Given the description of an element on the screen output the (x, y) to click on. 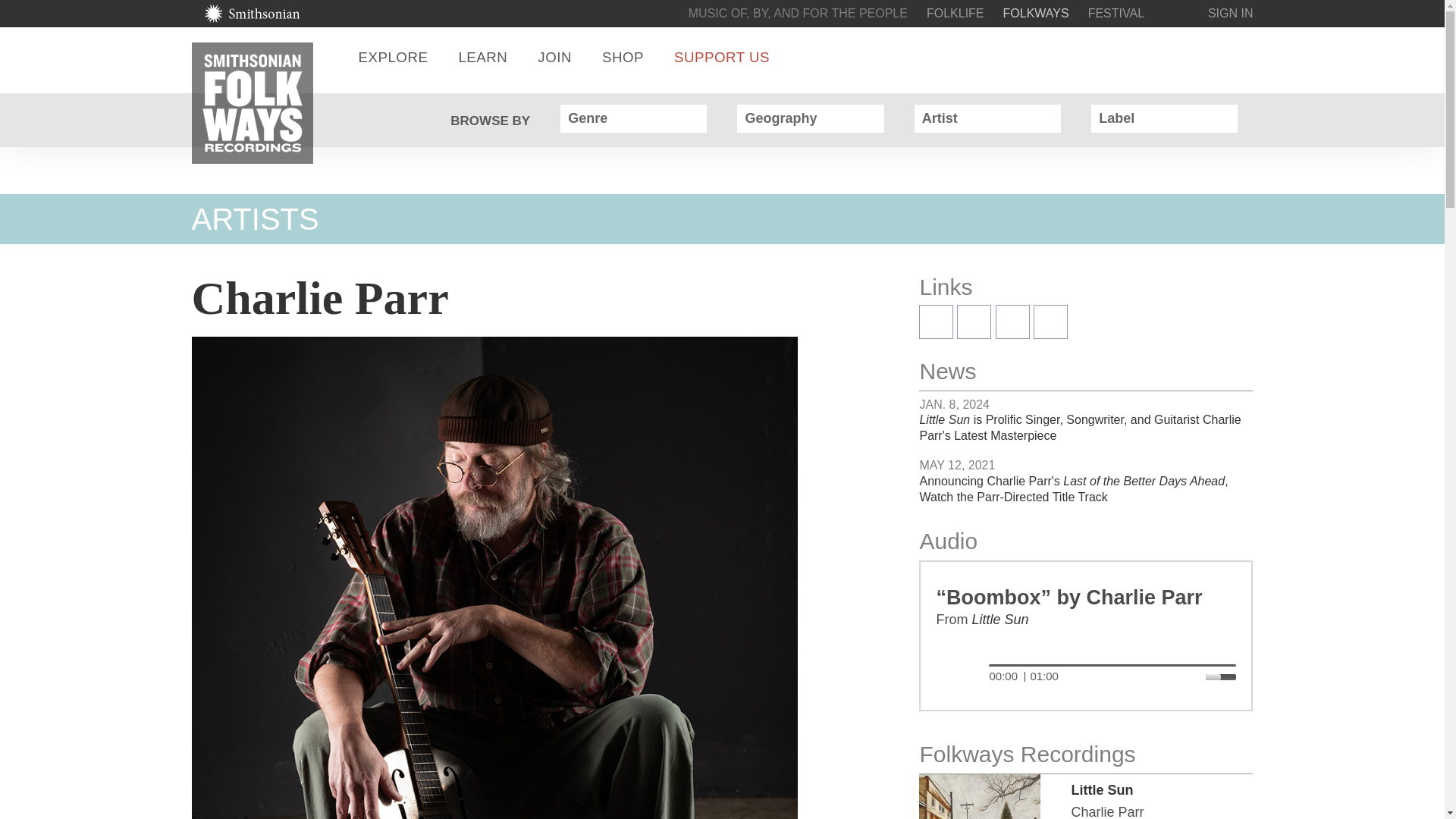
SUPPORT US (722, 57)
Browse by Geography (867, 117)
FOLKLIFE (955, 12)
JOIN (554, 57)
share (1198, 57)
SIGN IN (1230, 12)
FESTIVAL (1115, 12)
Browse by Genre (689, 117)
search (1152, 56)
search (1152, 57)
EXPLORE (393, 57)
FOLKWAYS (1035, 12)
menu (1243, 57)
menu (1244, 56)
LEARN (482, 57)
